Given the description of an element on the screen output the (x, y) to click on. 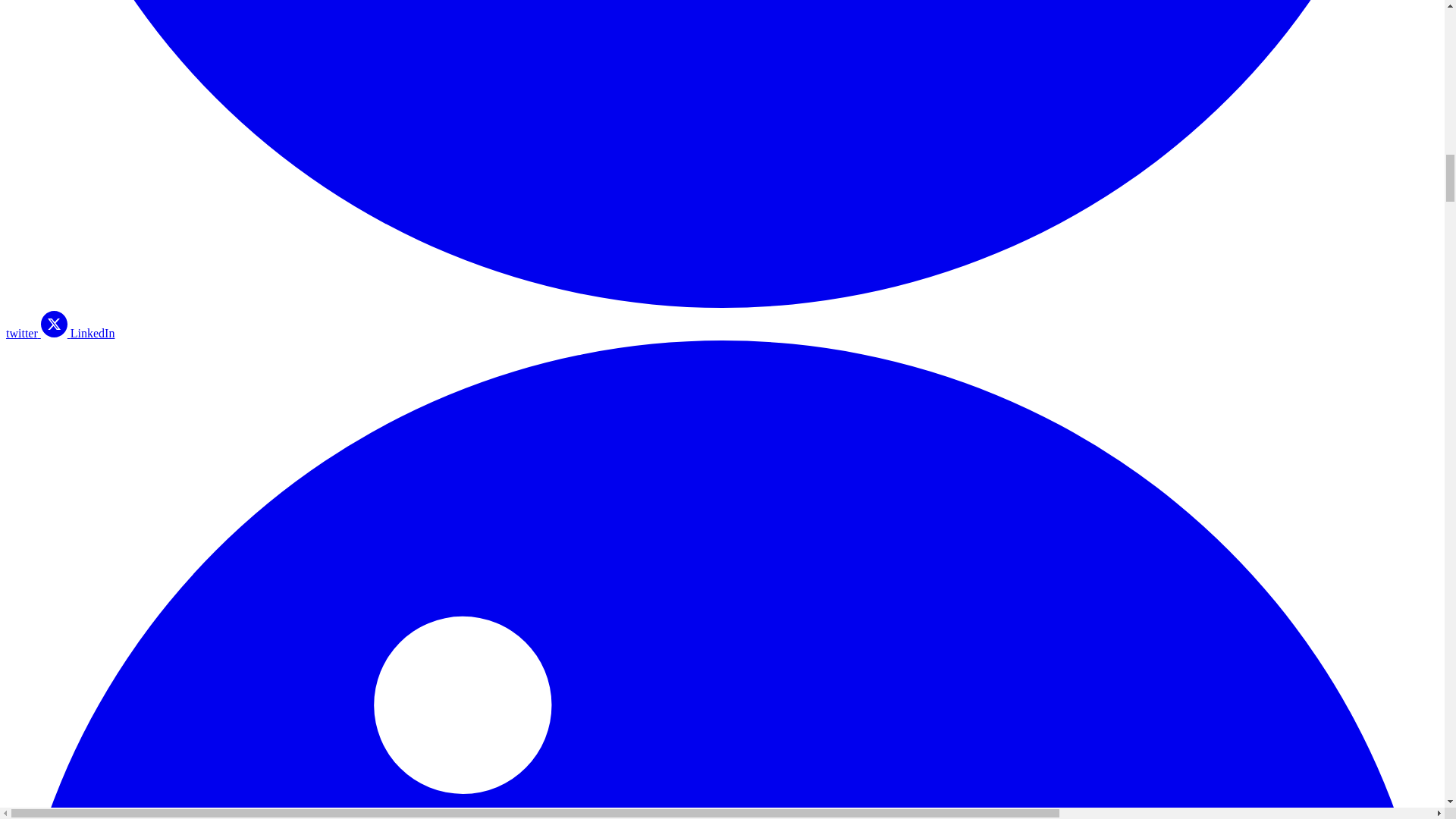
twitter (721, 347)
